Given the description of an element on the screen output the (x, y) to click on. 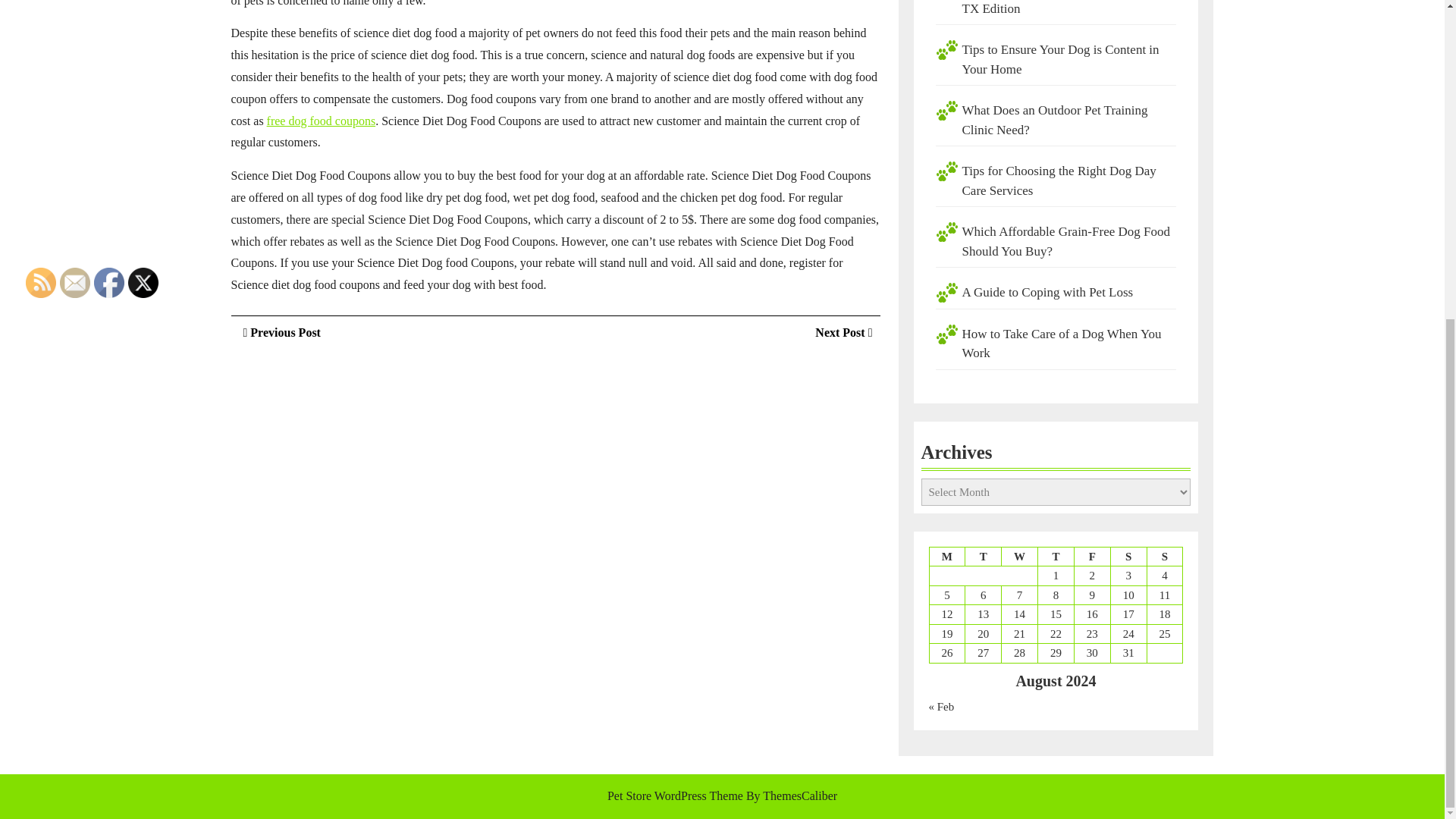
A Guide to Coping with Pet Loss (1046, 292)
How to Take Care of a Dog When You Work (843, 332)
free dog food coupons (1060, 343)
Thursday (320, 120)
Tuesday (1056, 556)
Wednesday (983, 556)
Tips to Ensure Your Dog is Content in Your Home (279, 332)
Gifts for Your Service Dogs: Houston, TX Edition (1019, 556)
